Given the description of an element on the screen output the (x, y) to click on. 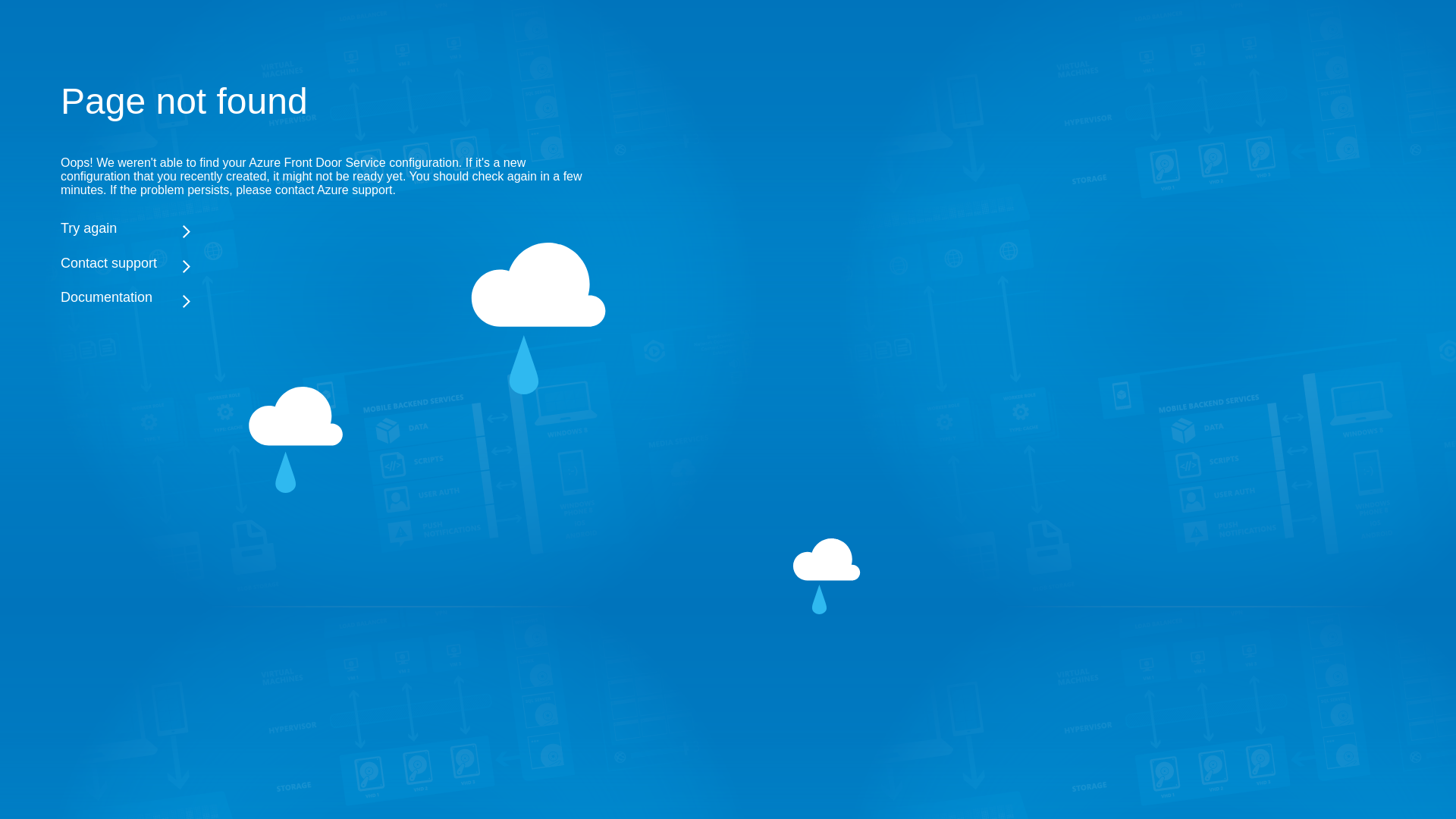
Try again Element type: text (325, 227)
Contact support Element type: text (325, 262)
Documentation Element type: text (325, 297)
